Given the description of an element on the screen output the (x, y) to click on. 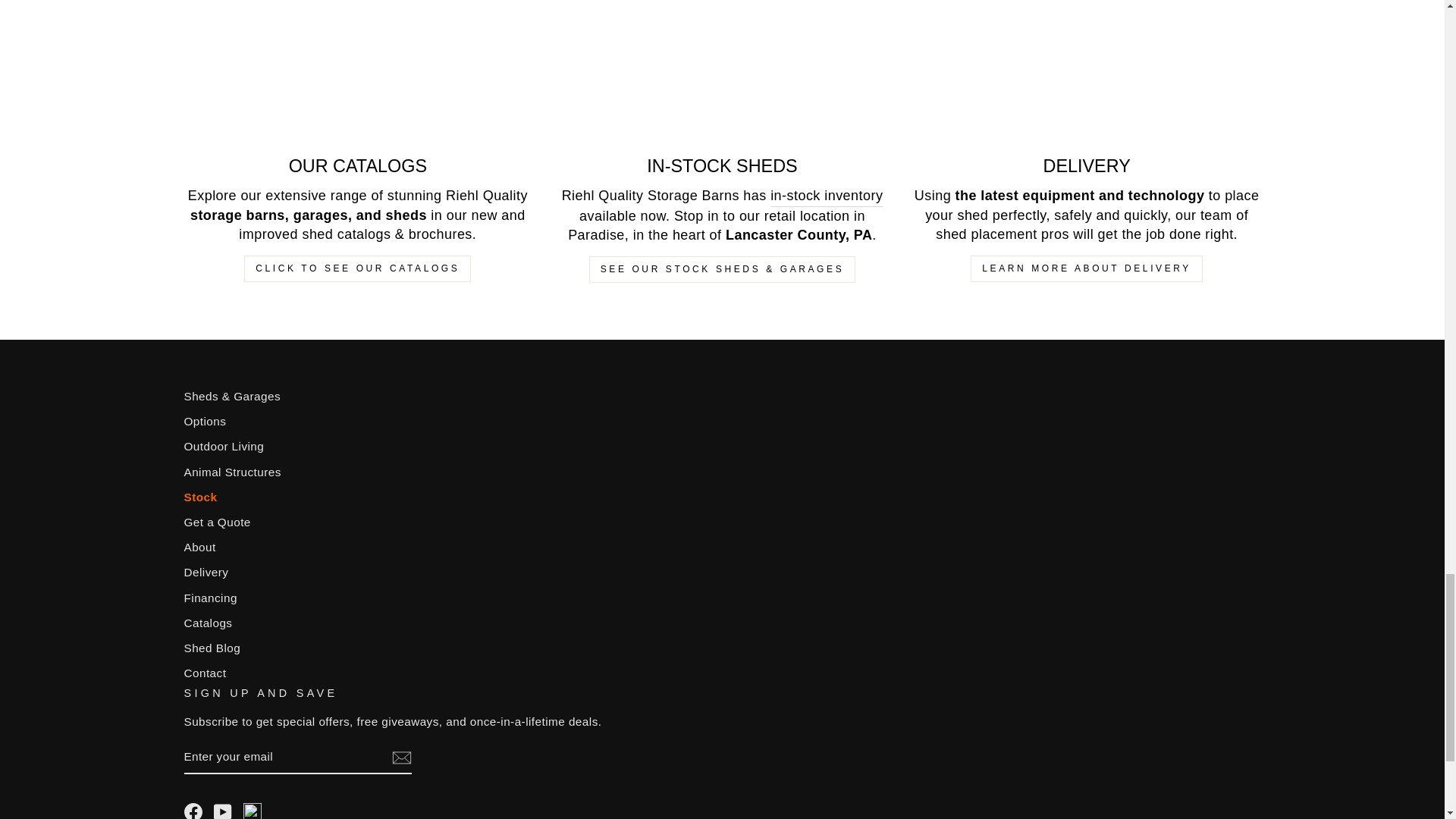
Riehl Quality Storage Barns on Facebook (192, 811)
Riehl Quality Storage Barns on Houzz (251, 805)
icon-email (400, 758)
Riehl Quality Storage Barns on YouTube (222, 811)
